Given the description of an element on the screen output the (x, y) to click on. 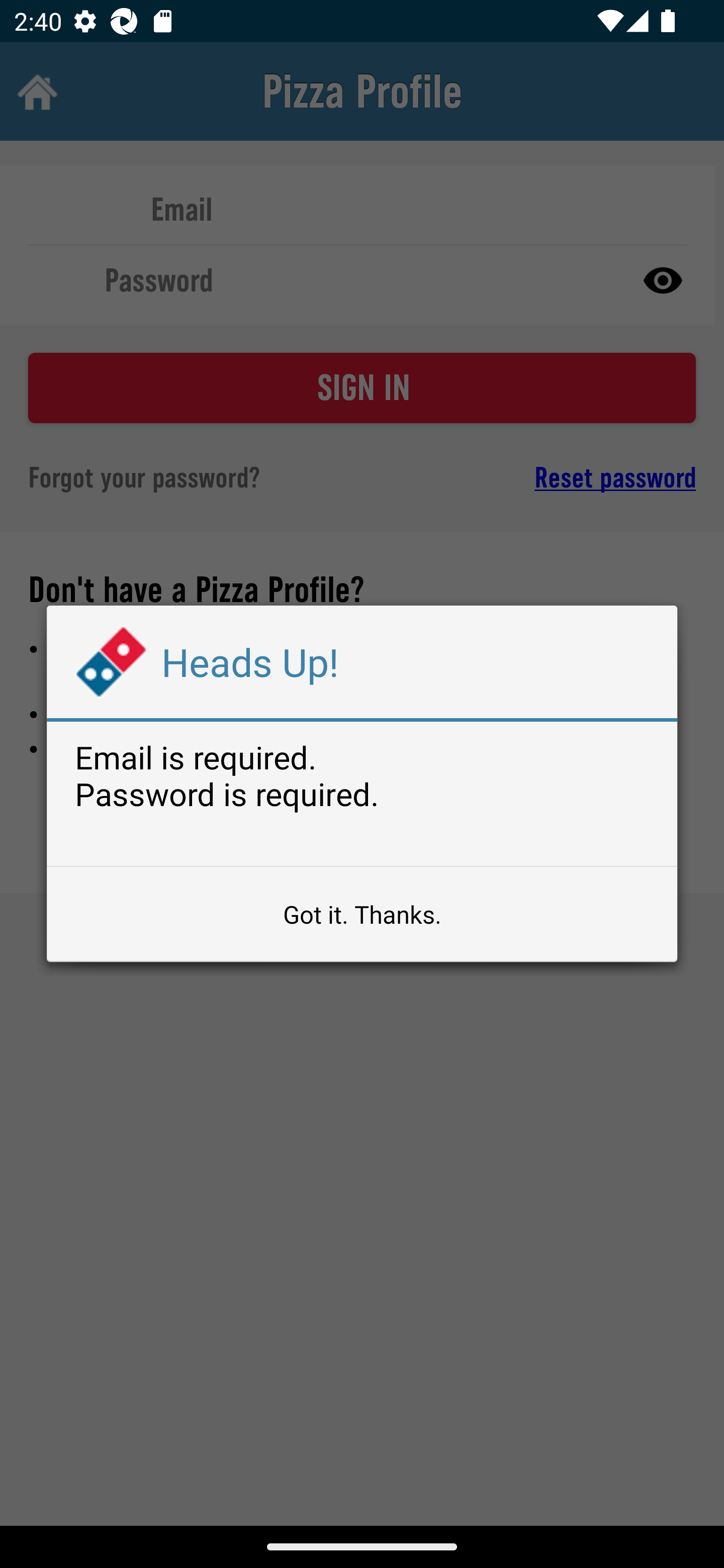
Got it. Thanks. (361, 914)
